Given the description of an element on the screen output the (x, y) to click on. 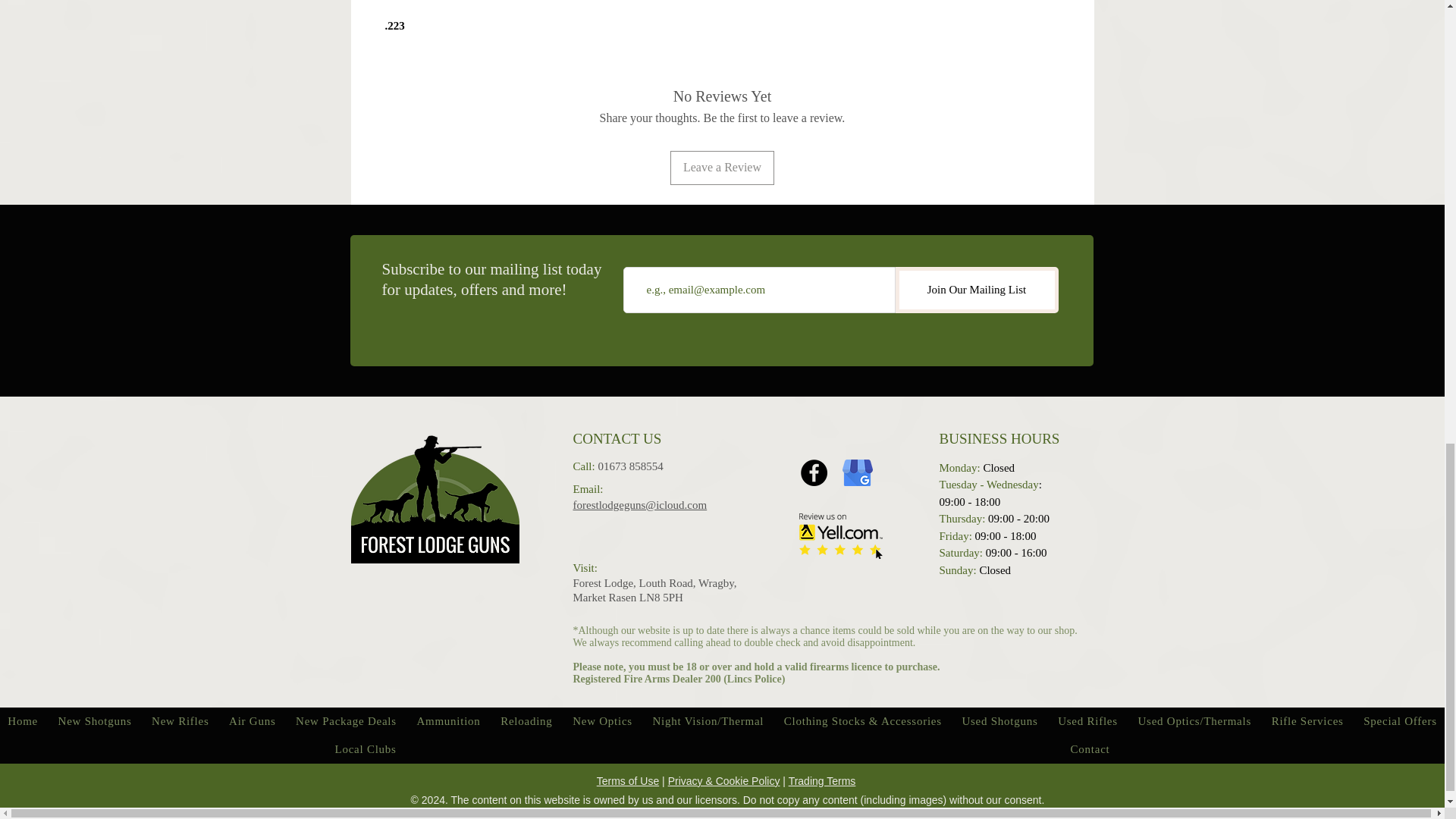
New Shotguns (94, 721)
Local Clubs (365, 749)
Trading Terms (822, 780)
Leave a Review (721, 167)
Home (22, 721)
Used Shotguns (999, 721)
Join Our Mailing List (976, 289)
Air Guns (252, 721)
Rifle Services (1307, 721)
